Given the description of an element on the screen output the (x, y) to click on. 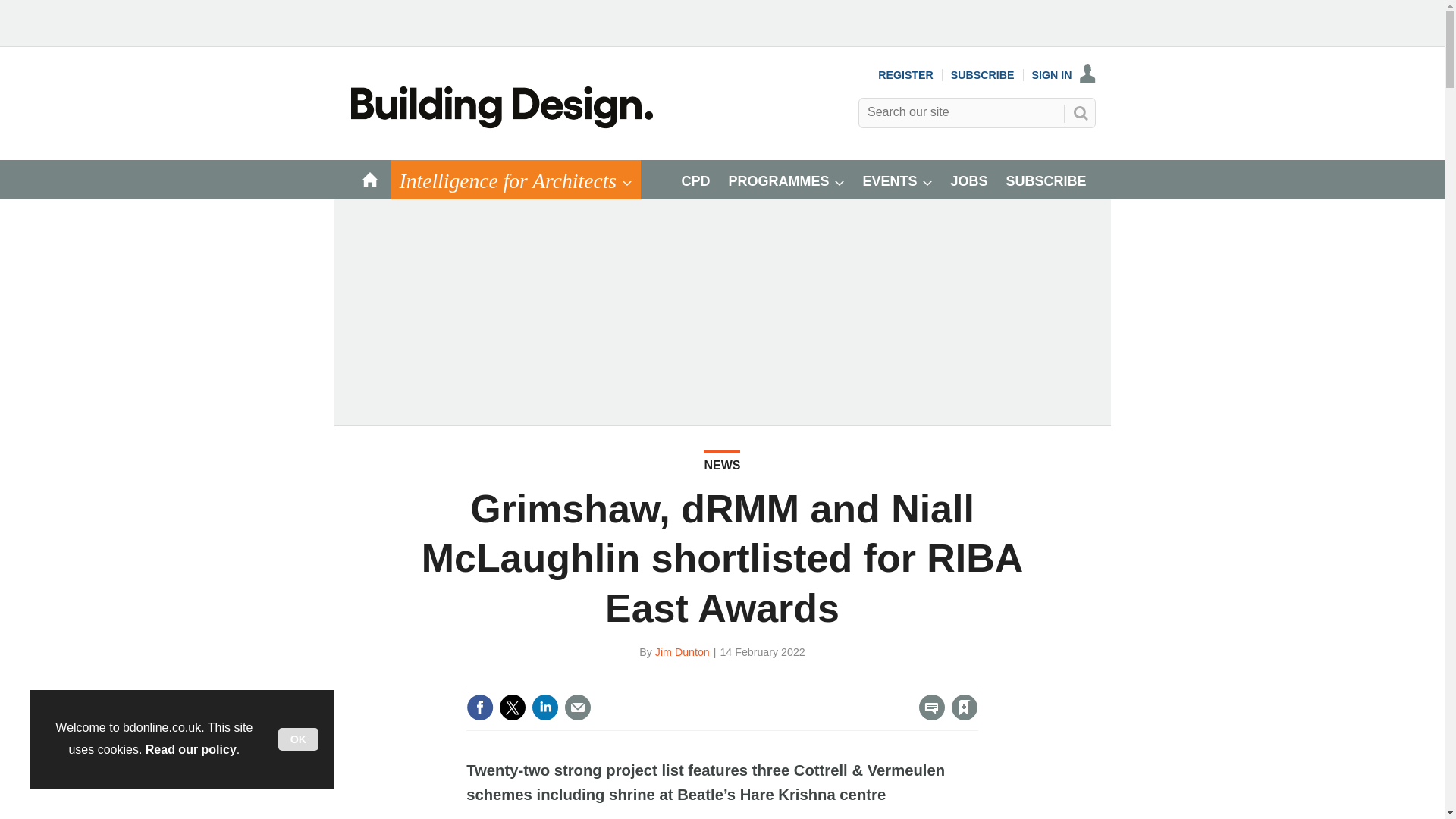
Share this on Linked in (545, 707)
SEARCH (1079, 112)
SIGN IN (1064, 74)
SUBSCRIBE (982, 74)
Read our policy (190, 748)
Share this on Facebook (479, 707)
Share this on Twitter (512, 707)
OK (298, 739)
REGISTER (905, 74)
No comments (926, 716)
Email this article (577, 707)
